Given the description of an element on the screen output the (x, y) to click on. 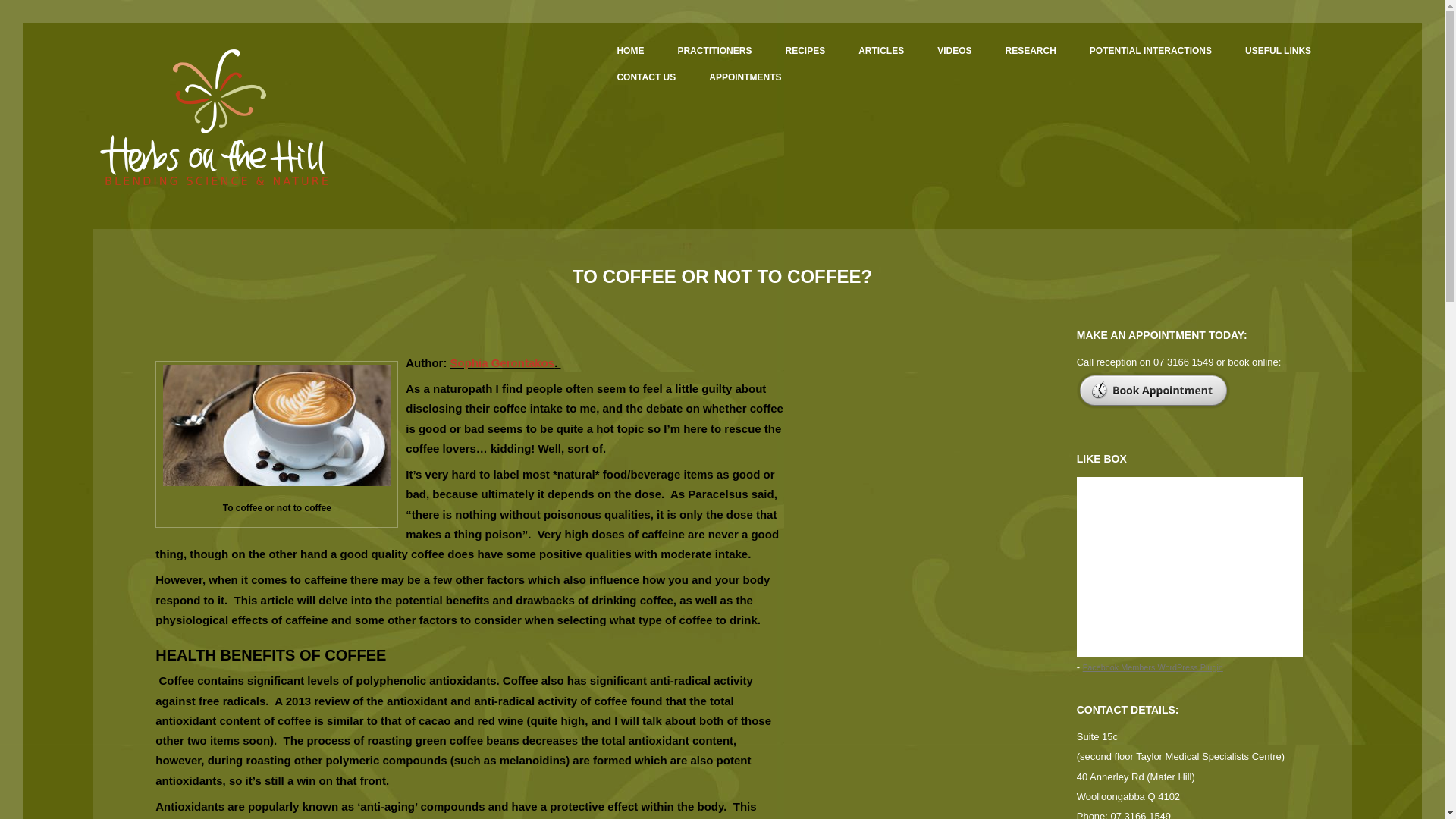
ARTICLES (881, 50)
Facebook Members WordPress Plugin by Crunchify (1153, 666)
HOME (630, 50)
HERBS ON THE HILL (213, 117)
RESEARCH (1030, 50)
PRACTITIONERS (713, 50)
CONTACT US (646, 77)
RECIPES (804, 50)
USEFUL LINKS (1277, 50)
VIDEOS (954, 50)
POTENTIAL INTERACTIONS (1150, 50)
